Given the description of an element on the screen output the (x, y) to click on. 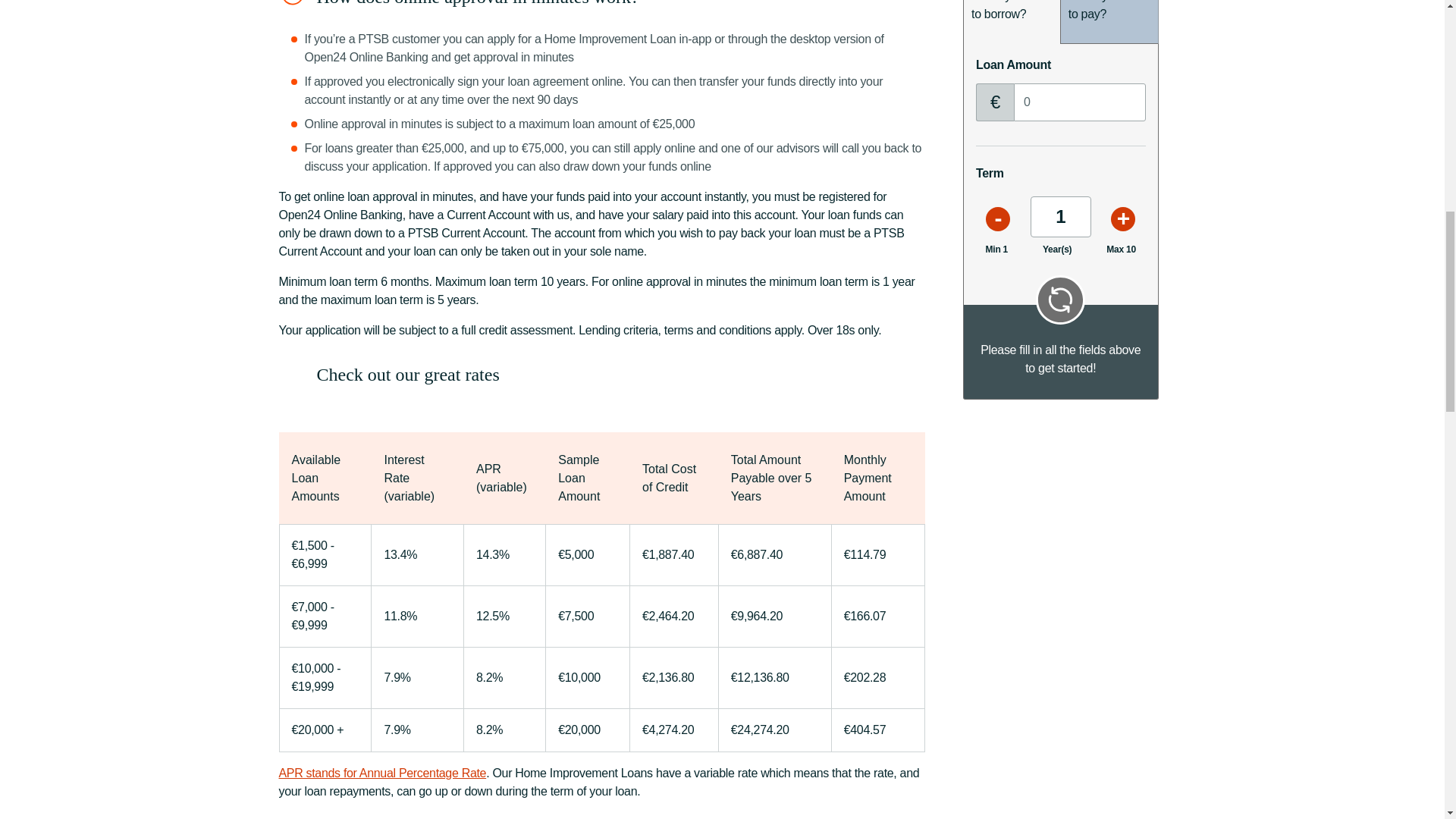
1 (1060, 216)
